Given the description of an element on the screen output the (x, y) to click on. 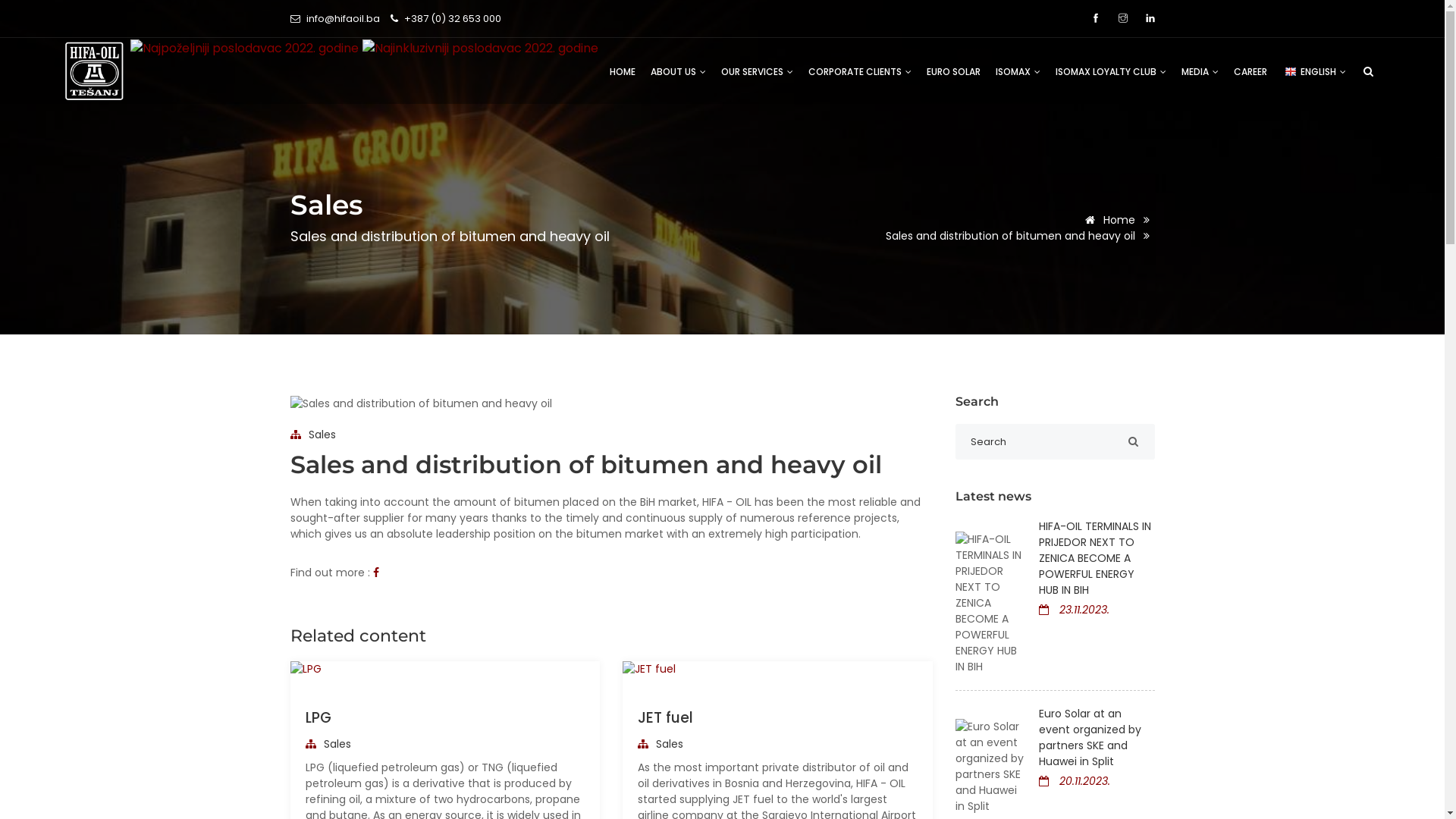
Home Element type: text (1119, 219)
CORPORATE CLIENTS Element type: text (859, 70)
ABOUT US Element type: text (678, 70)
Sales Element type: text (662, 743)
HOME Element type: text (622, 70)
LPG Element type: text (317, 717)
JET fuel Element type: text (665, 717)
OUR SERVICES Element type: text (756, 70)
ISOMAX LOYALTY CLUB Element type: text (1110, 70)
ISOMAX Element type: text (1017, 70)
Sales Element type: text (313, 434)
EURO SOLAR Element type: text (953, 70)
Sales Element type: text (329, 743)
Sales and distribution of bitumen and heavy oil Element type: text (1011, 235)
MEDIA Element type: text (1199, 70)
CAREER Element type: text (1249, 70)
ENGLISH Element type: text (1314, 70)
+387 (0) 32 653 000 Element type: text (451, 18)
